Given the description of an element on the screen output the (x, y) to click on. 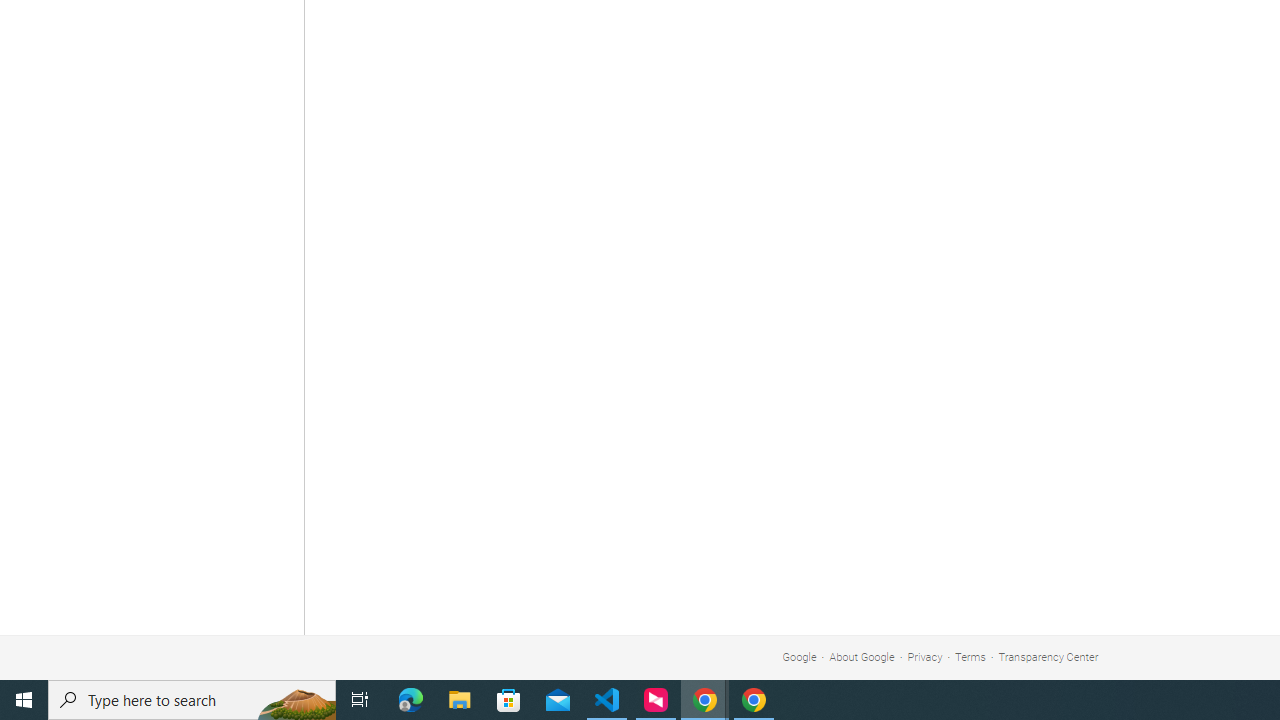
Privacy (925, 656)
Google (799, 656)
Transparency Center (1048, 656)
About Google (861, 656)
Terms (969, 656)
